Given the description of an element on the screen output the (x, y) to click on. 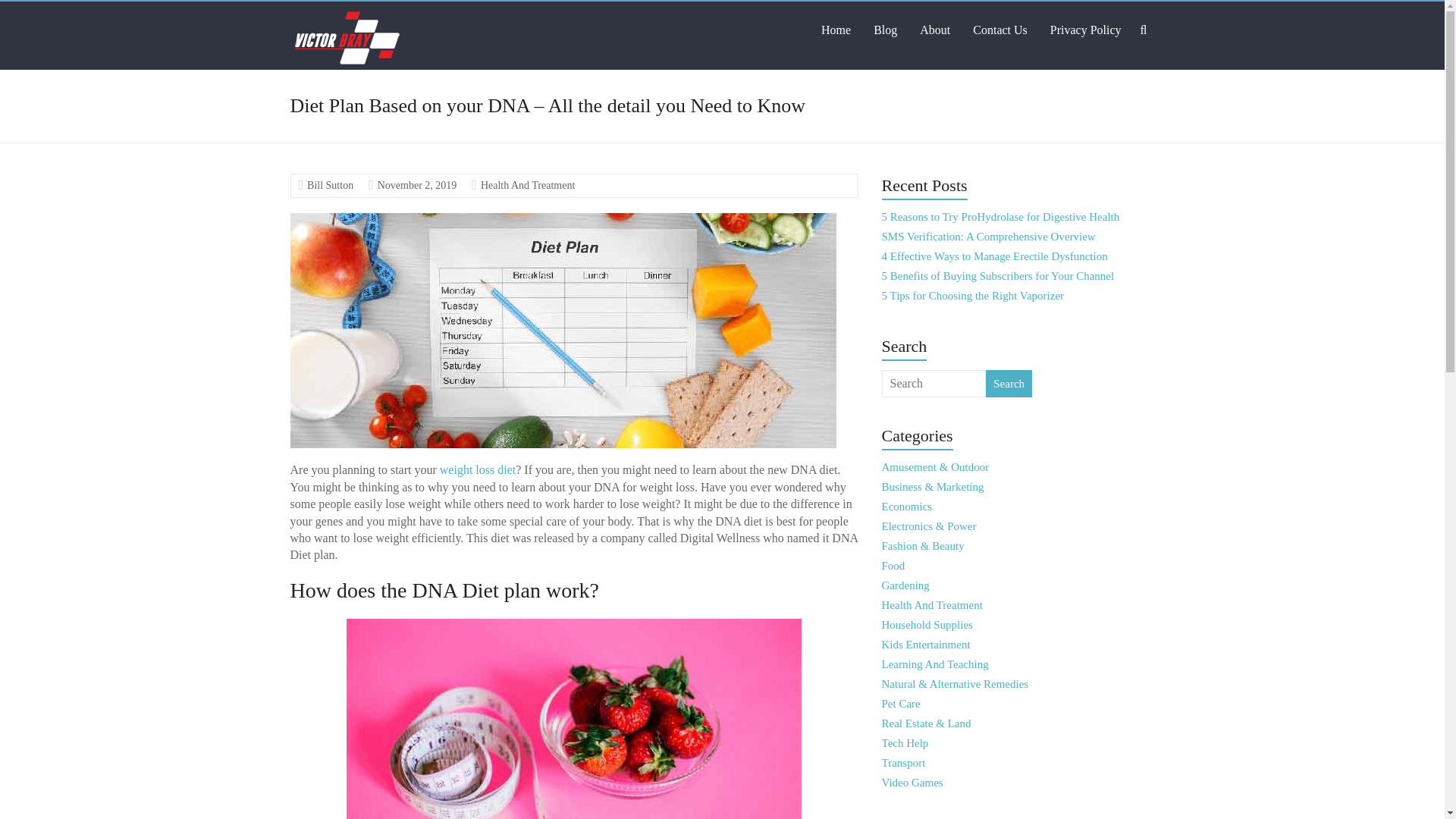
Contact Us (999, 29)
4 Effective Ways to Manage Erectile Dysfunction (995, 256)
5 Benefits of Buying Subscribers for Your Channel (998, 275)
Privacy Policy (1085, 29)
Bill Sutton (330, 184)
4:29 am (417, 184)
Health And Treatment (527, 184)
SMS Verification: A Comprehensive Overview (989, 236)
Food (893, 565)
Search (1008, 383)
Gardening (906, 585)
Kids Entertainment (926, 644)
Household Supplies (927, 624)
weight loss diet (477, 469)
5 Reasons to Try ProHydrolase for Digestive Health (1000, 216)
